Given the description of an element on the screen output the (x, y) to click on. 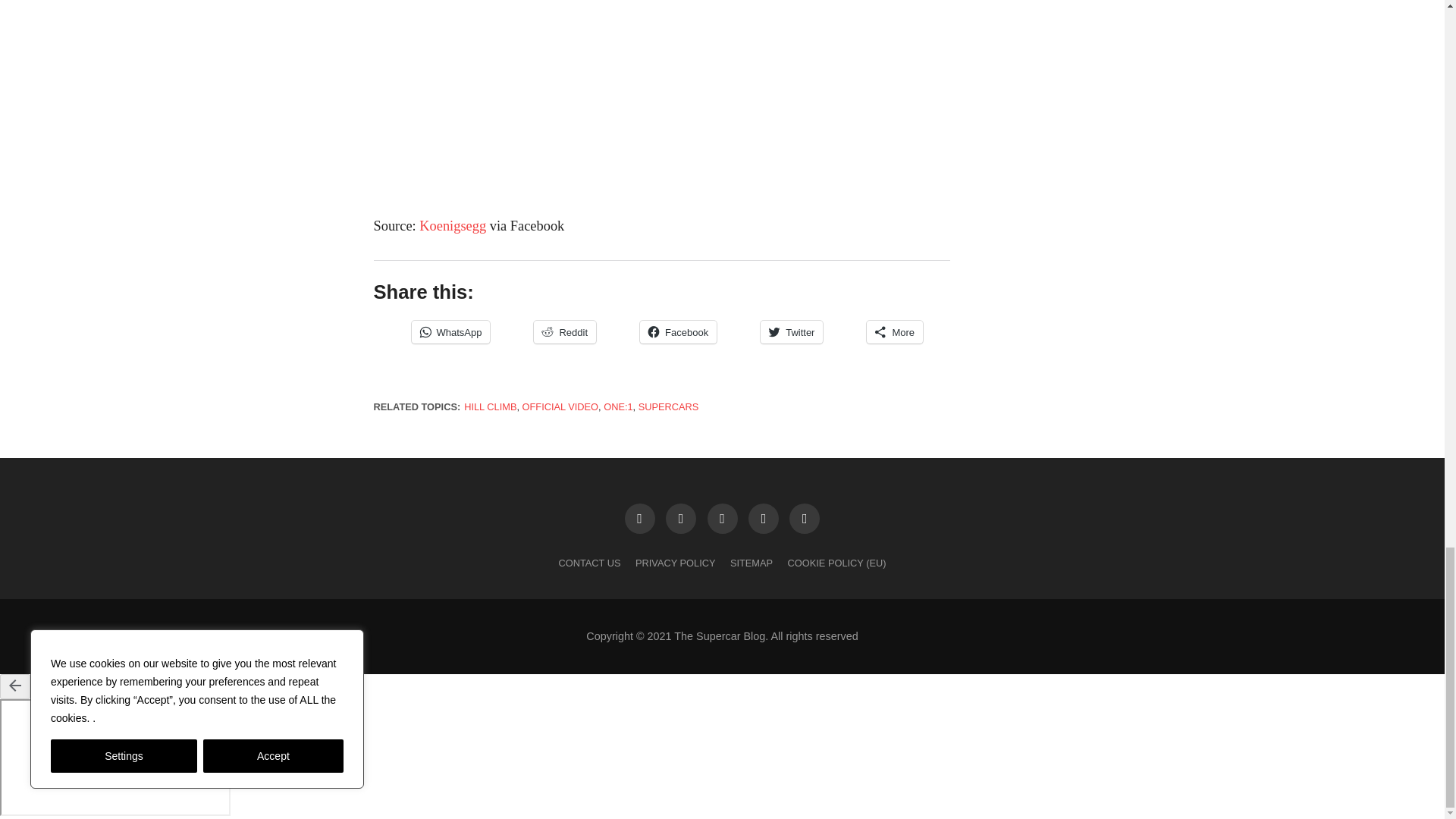
Reddit (564, 332)
Click to share on Twitter (791, 332)
WhatsApp (449, 332)
Koenigsegg (452, 225)
Click to share on WhatsApp (449, 332)
Facebook (678, 332)
Click to share on Facebook (678, 332)
Click to share on Reddit (564, 332)
